Given the description of an element on the screen output the (x, y) to click on. 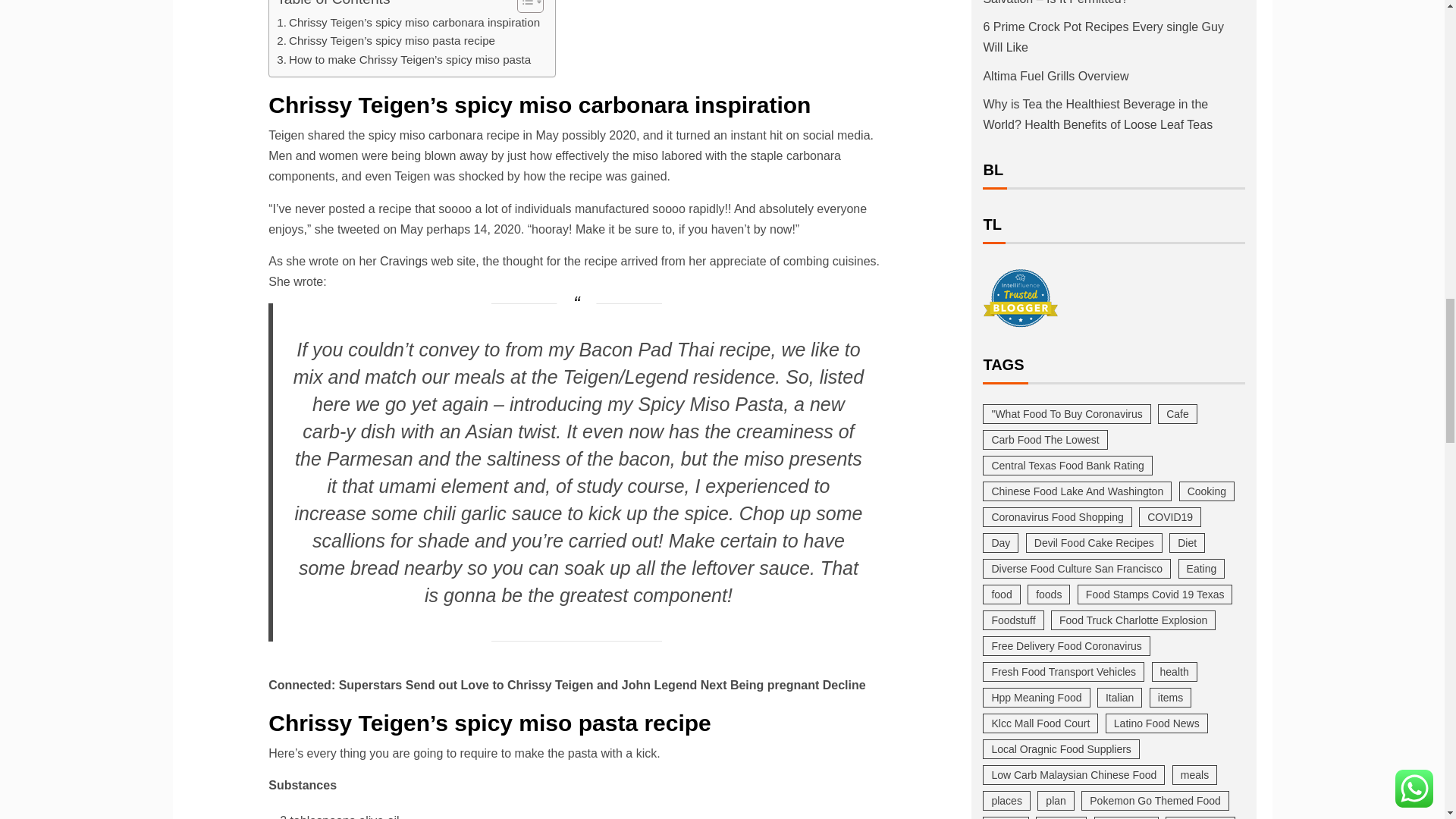
Cravings (404, 260)
